Given the description of an element on the screen output the (x, y) to click on. 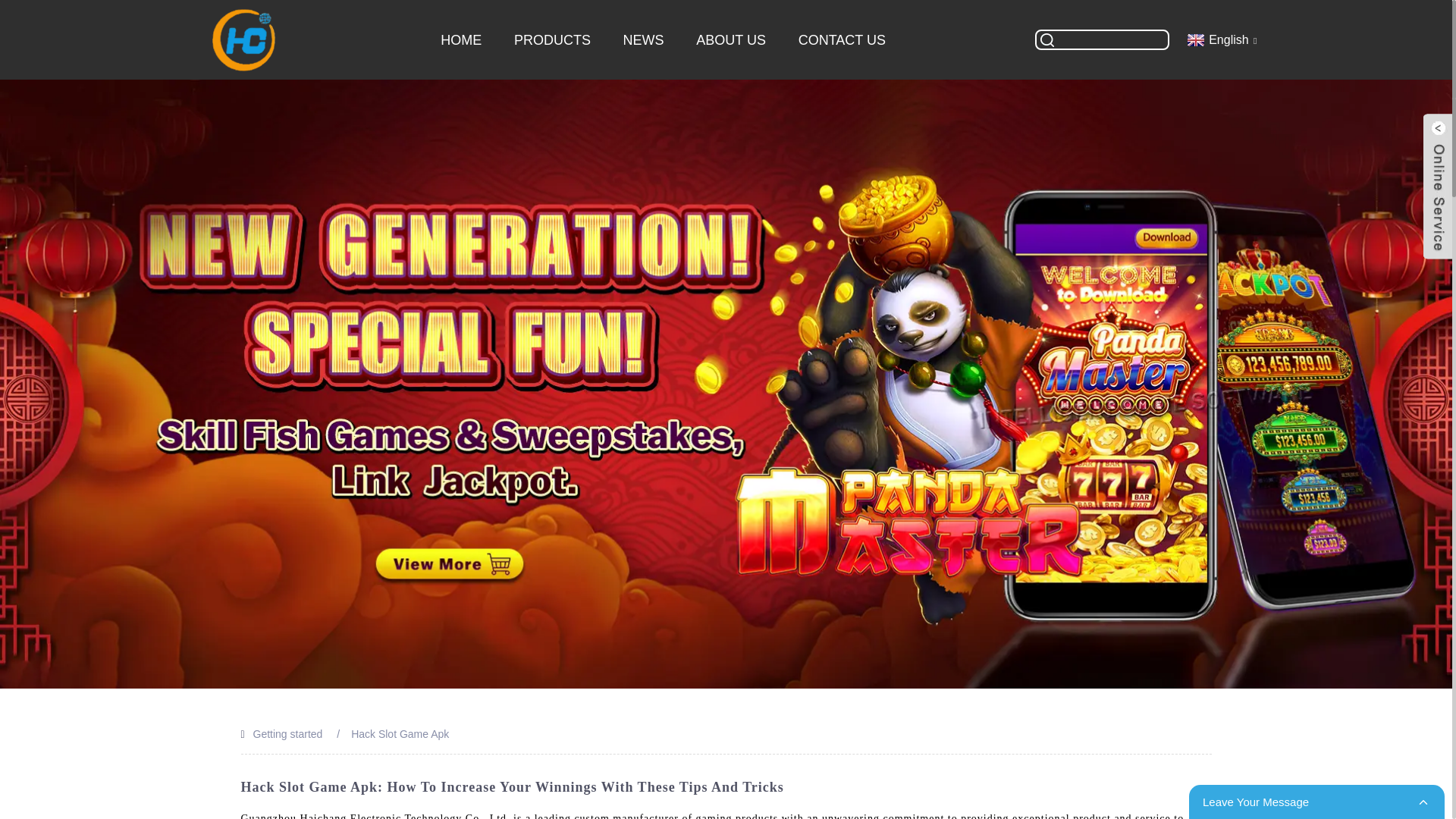
HOME (461, 39)
English (1219, 39)
ABOUT US (730, 39)
CONTACT US (841, 39)
Hack Slot Game Apk (399, 734)
Getting started (288, 734)
PRODUCTS (552, 39)
NEWS (643, 39)
